Given the description of an element on the screen output the (x, y) to click on. 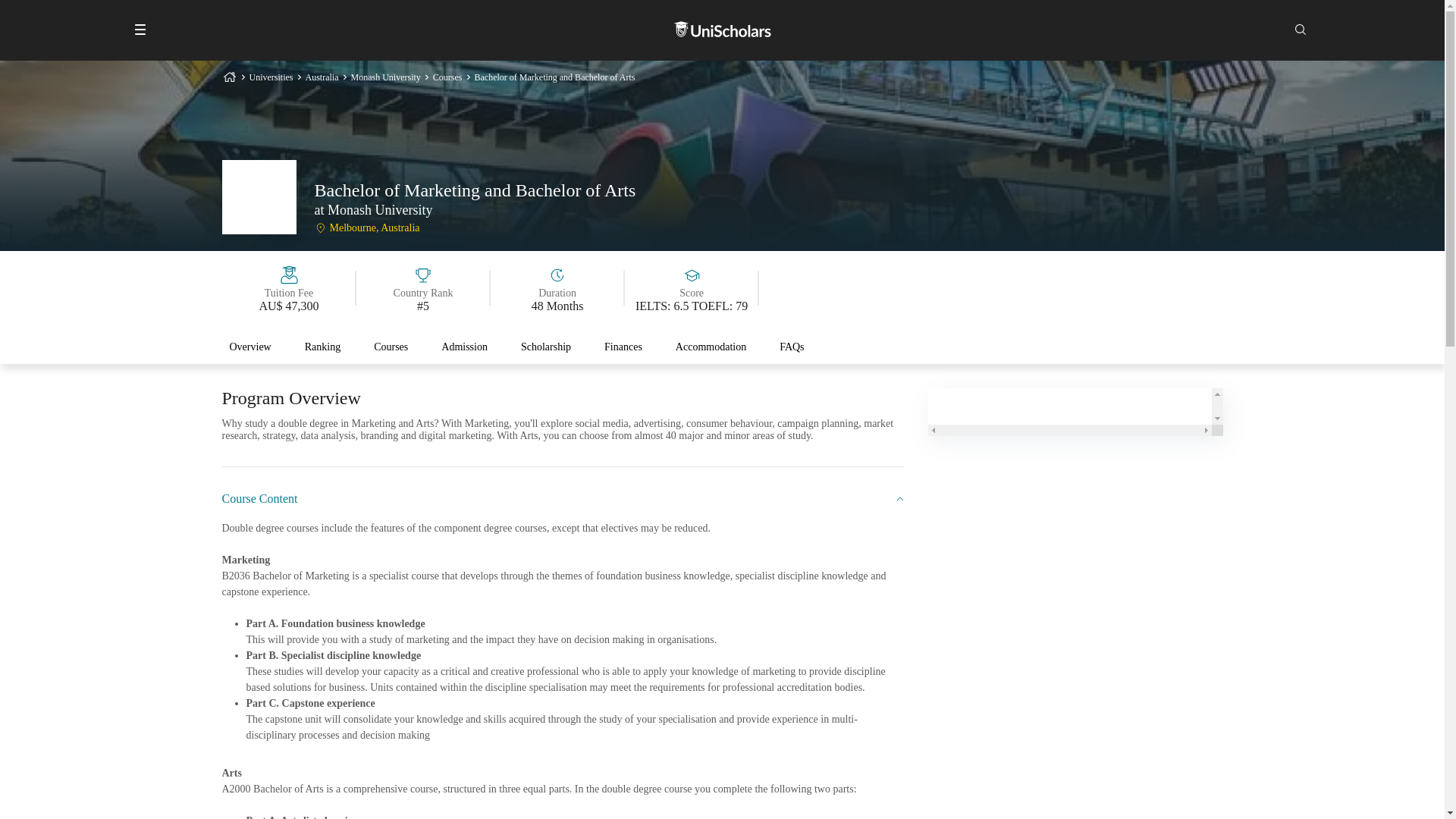
Ranking (322, 346)
Bachelor of Marketing and Bachelor of Arts (554, 76)
Accommodation (710, 346)
Scholarship (545, 346)
Finances (622, 351)
Courses (390, 346)
Accommodation (711, 351)
Courses (447, 76)
Overview (249, 346)
FAQs (790, 346)
FAQs (790, 351)
Ranking (322, 346)
FAQs (790, 346)
Admission (464, 346)
